Given the description of an element on the screen output the (x, y) to click on. 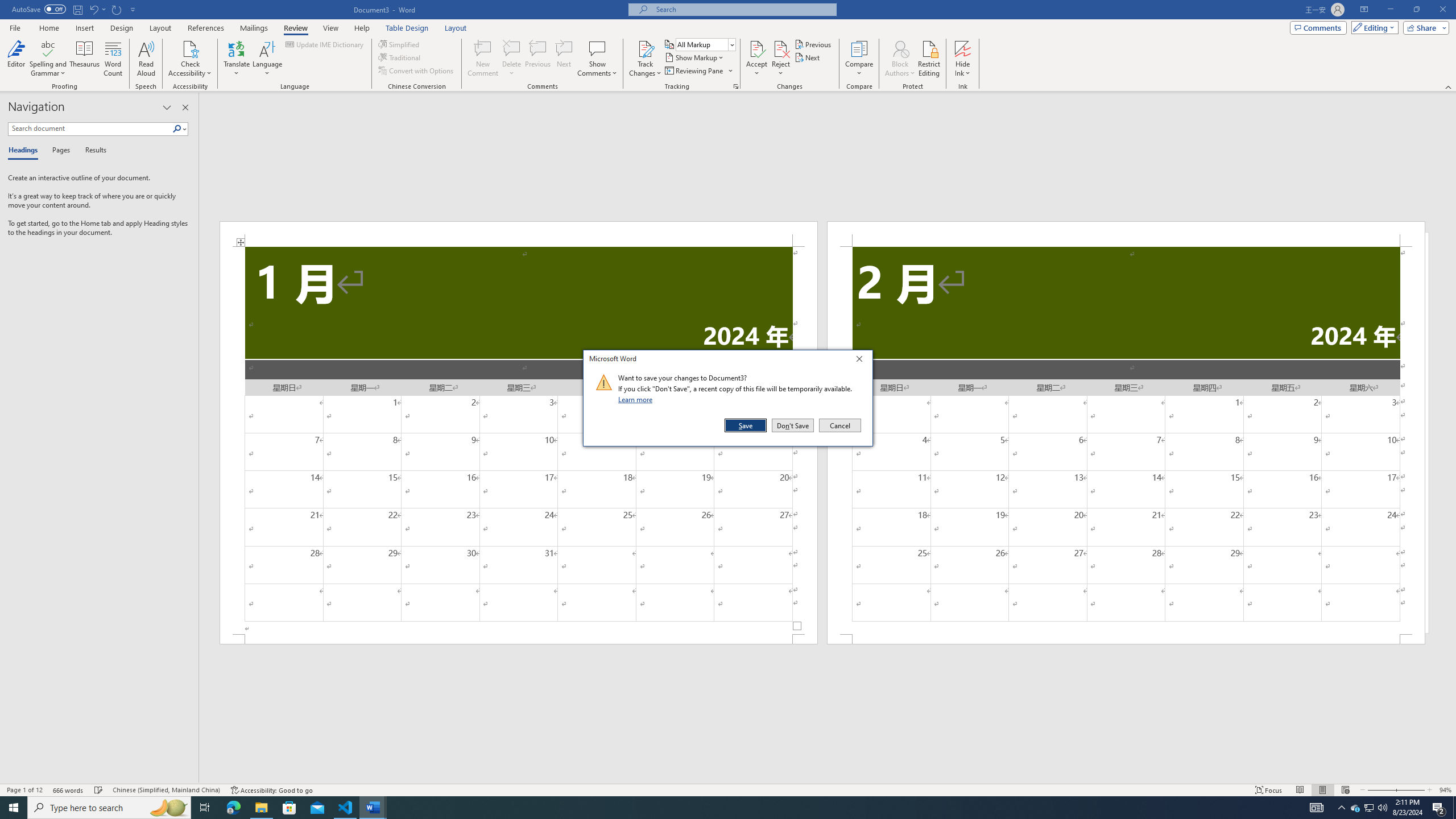
Traditional (400, 56)
Show Markup (695, 56)
Show Comments (597, 48)
Reviewing Pane (698, 69)
Don't Save (792, 425)
Accept (756, 58)
Previous (813, 44)
Reject (780, 58)
Spelling and Grammar (48, 48)
